Given the description of an element on the screen output the (x, y) to click on. 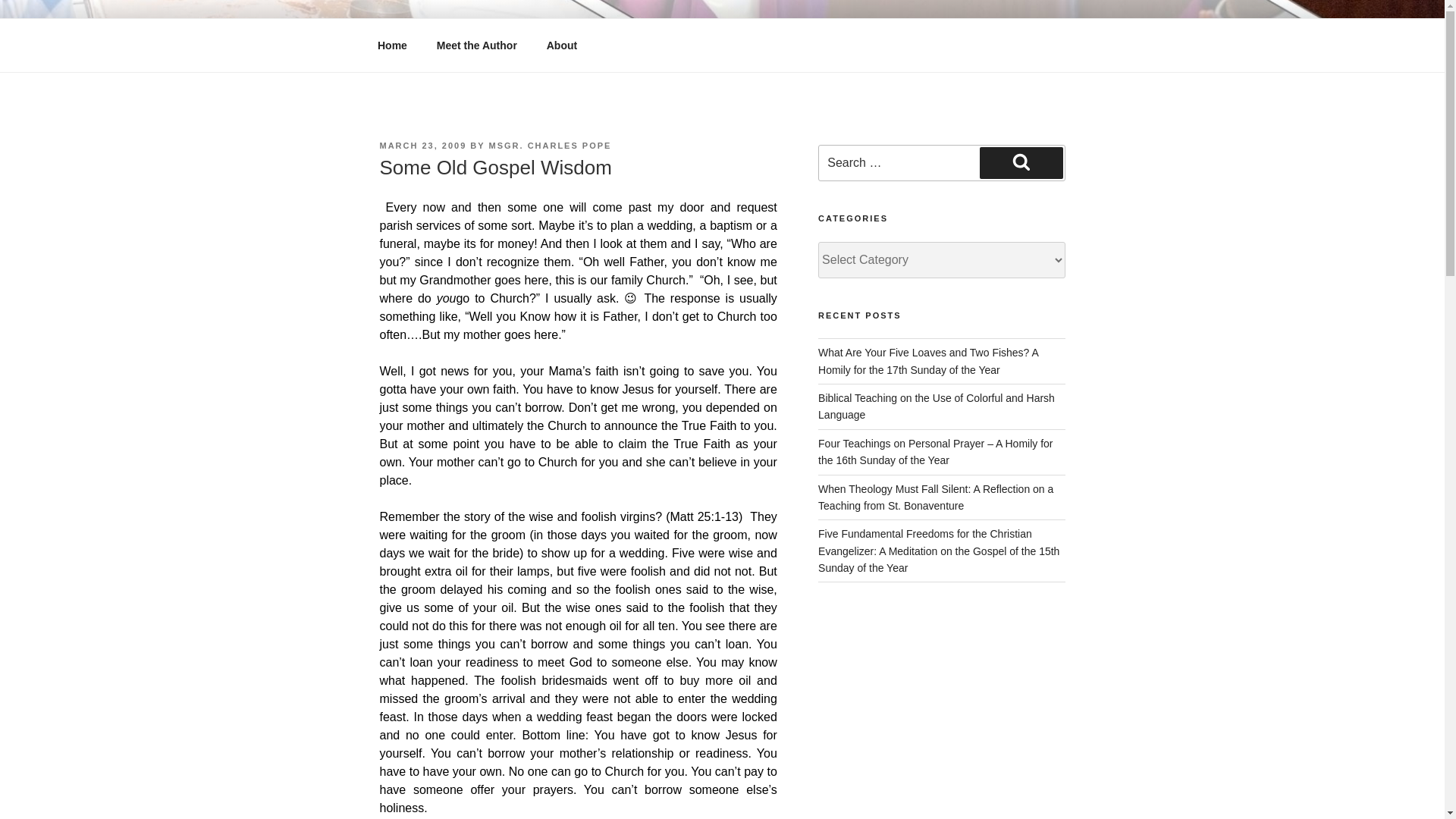
Meet the Author (476, 45)
Search (1020, 163)
MARCH 23, 2009 (421, 144)
Home (392, 45)
MSGR. CHARLES POPE (550, 144)
COMMUNITY IN MISSION (563, 52)
About (560, 45)
